Given the description of an element on the screen output the (x, y) to click on. 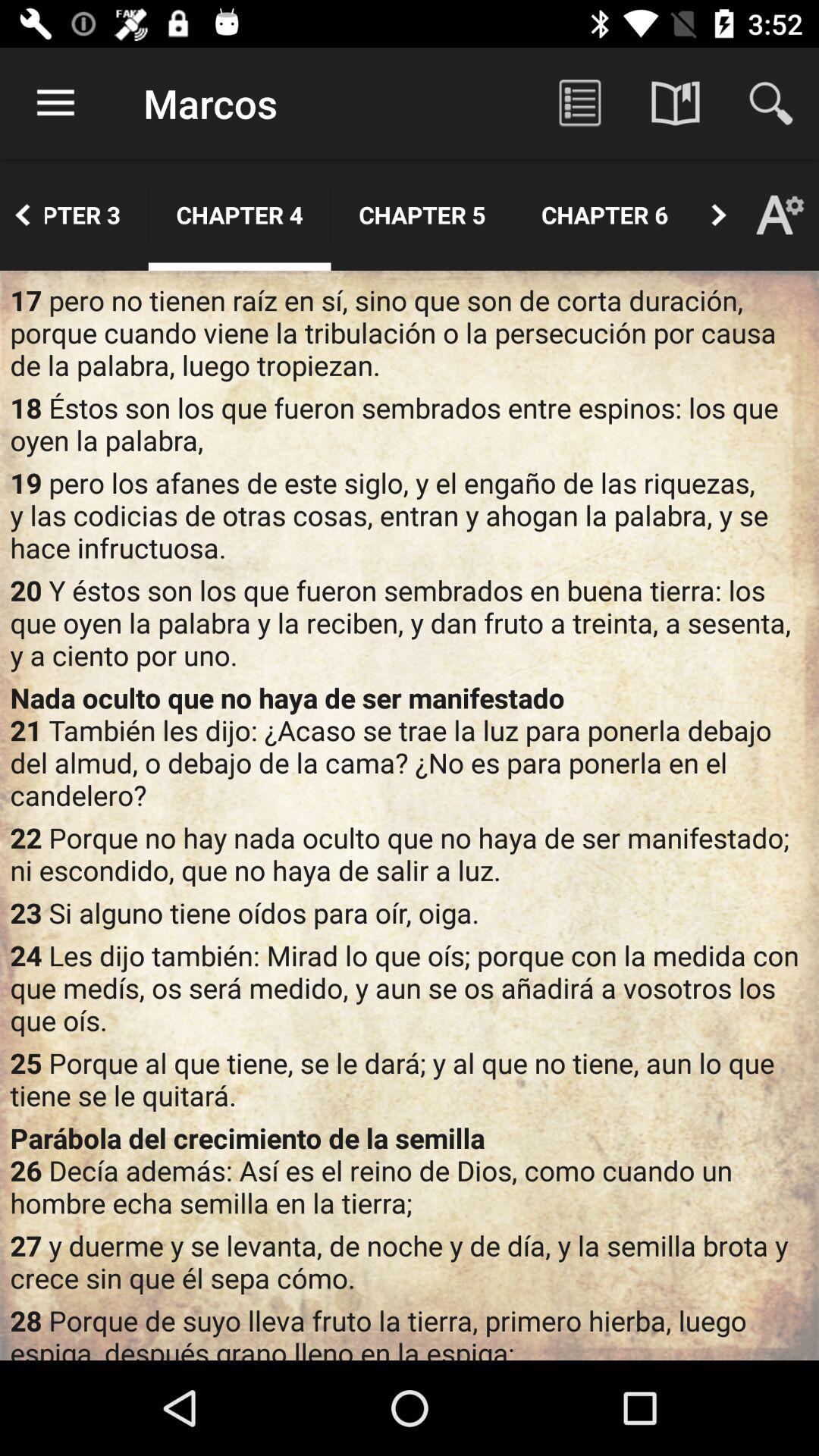
turn off the app above the chapter 6 item (579, 103)
